Given the description of an element on the screen output the (x, y) to click on. 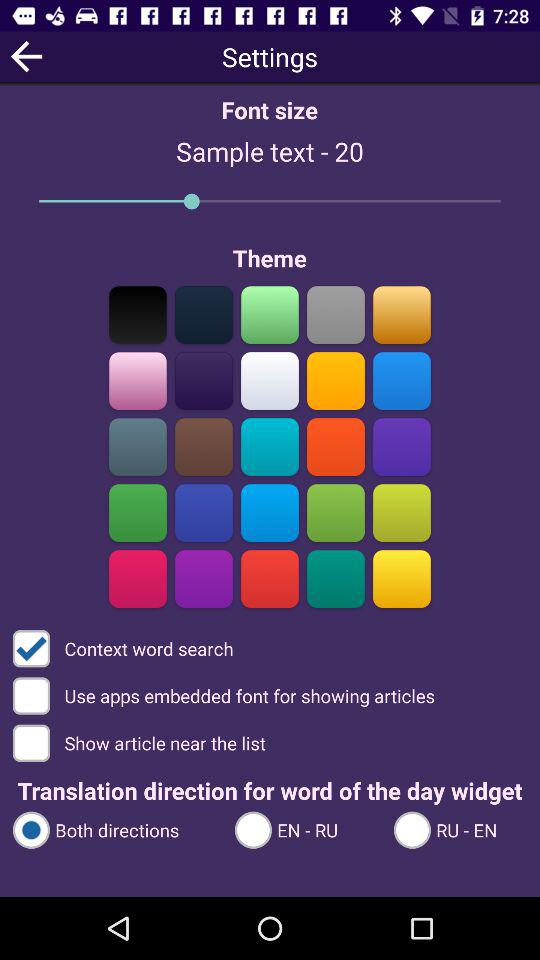
select violet color (401, 446)
